Given the description of an element on the screen output the (x, y) to click on. 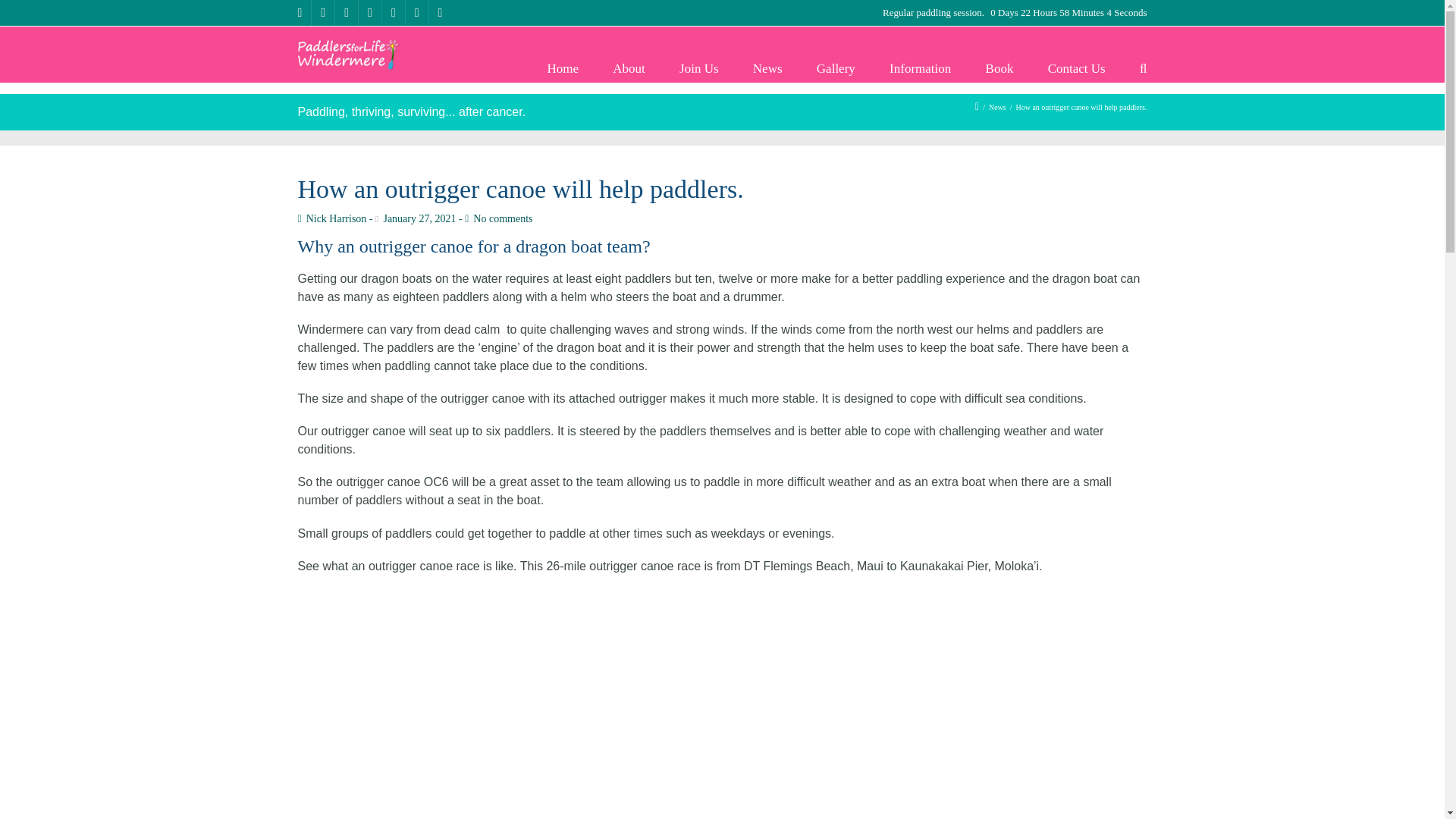
About (628, 68)
Posts by Nick Harrison (331, 218)
Home (561, 68)
Join Us (699, 68)
